Given the description of an element on the screen output the (x, y) to click on. 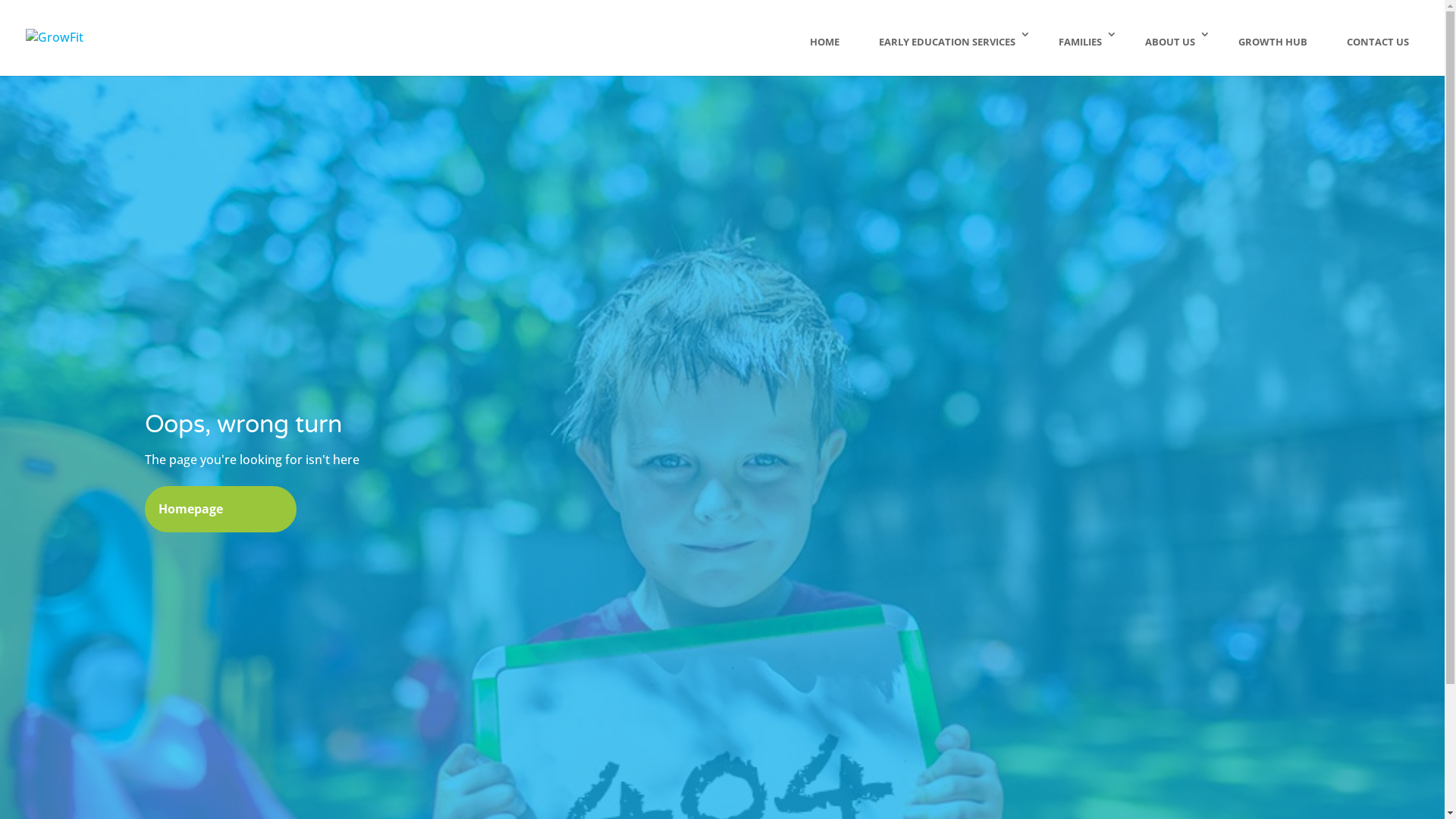
EARLY EDUCATION SERVICES Element type: text (948, 51)
FAMILIES Element type: text (1082, 51)
CONTACT US Element type: text (1377, 51)
ABOUT US Element type: text (1171, 51)
GROWTH HUB Element type: text (1272, 51)
Homepage Element type: text (219, 509)
HOME Element type: text (824, 51)
